Given the description of an element on the screen output the (x, y) to click on. 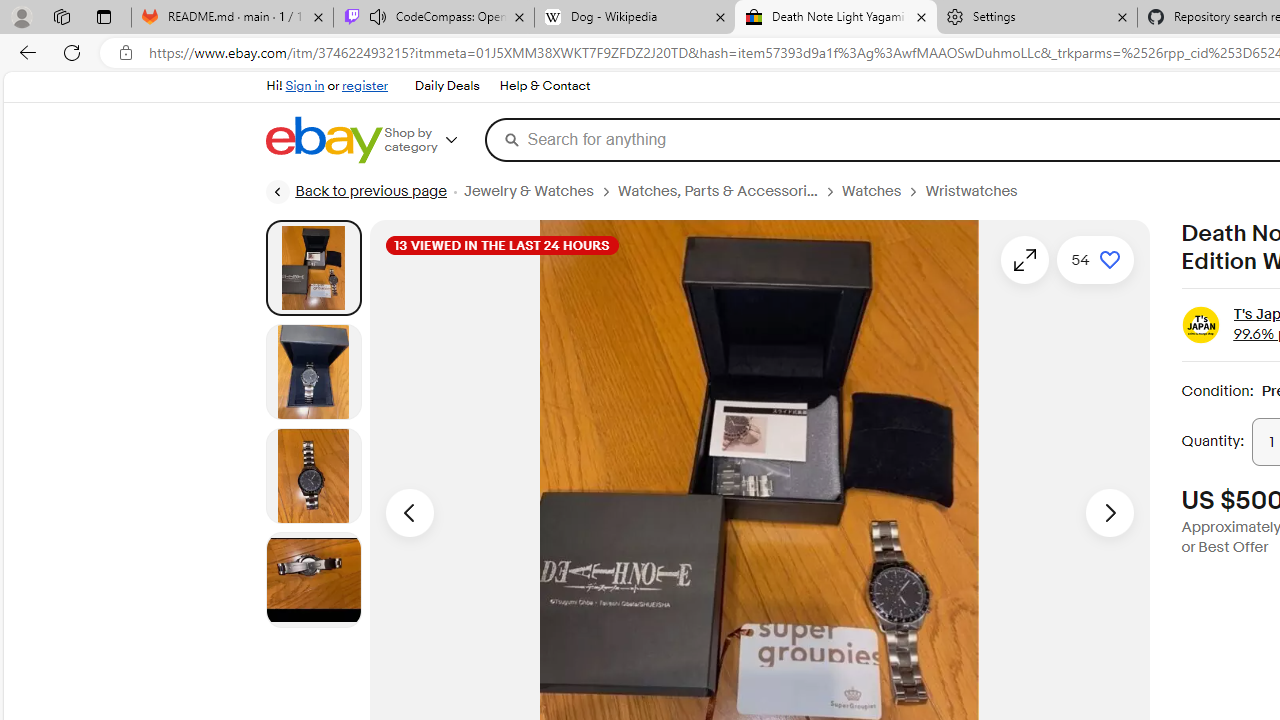
Mute tab (377, 16)
Help & Contact (543, 85)
Add to watchlist - 54 watchers (1095, 259)
Jewelry & Watches (528, 191)
Picture 3 of 4 (313, 475)
register (364, 85)
Daily Deals (446, 85)
Picture 4 of 4 (313, 579)
Picture 3 of 4 (313, 475)
Class: icon-btn (1024, 259)
Jewelry & Watches (540, 191)
